Given the description of an element on the screen output the (x, y) to click on. 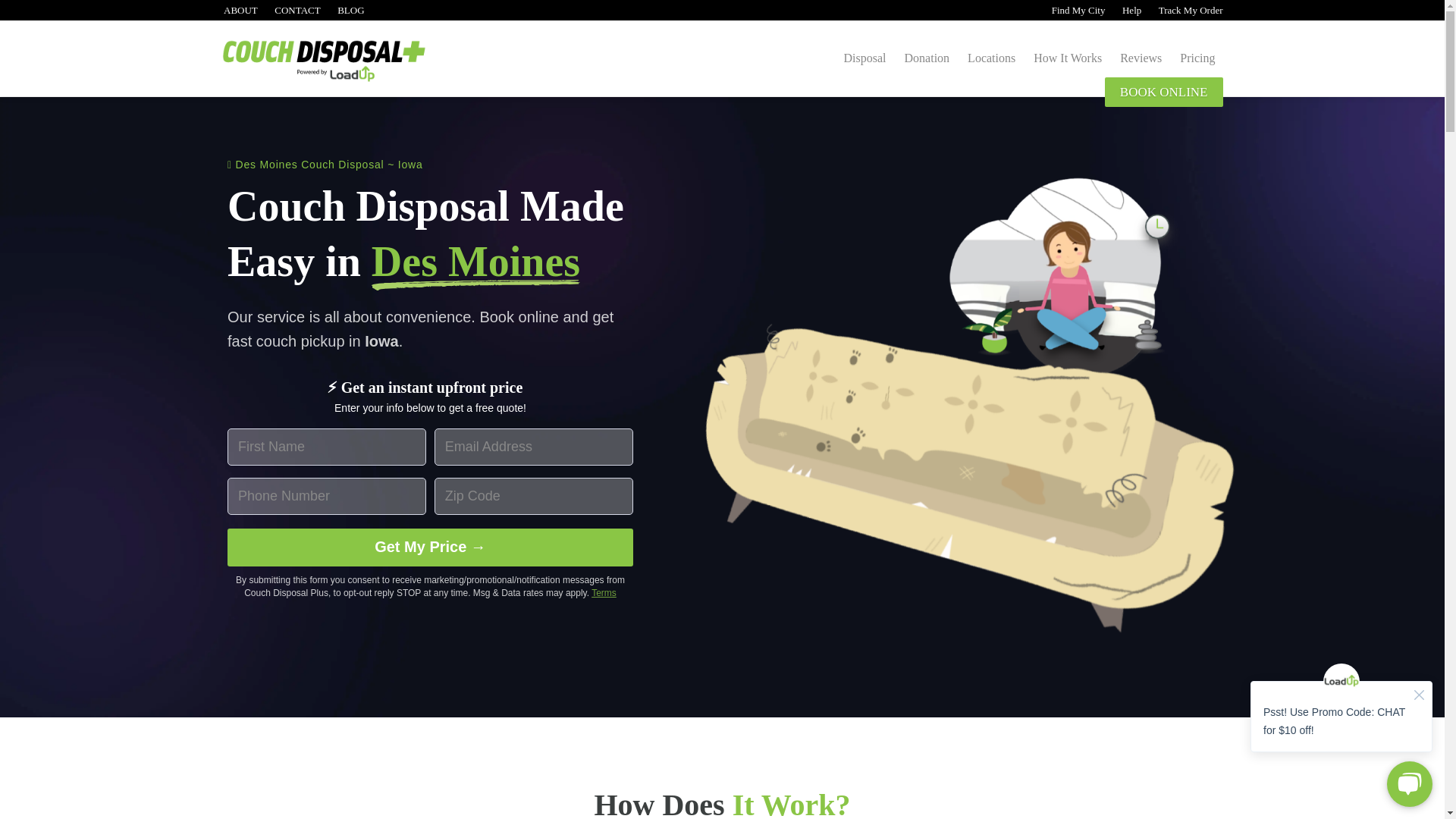
Find My City (1077, 10)
Disposal (864, 57)
BLOG (350, 10)
Help (1130, 10)
Terms (603, 593)
CONTACT (296, 10)
How It Works (1067, 57)
BOOK ONLINE (1164, 91)
Track My Order (1189, 10)
Reviews (1140, 57)
Couch Disposal Plus (348, 65)
ABOUT (239, 10)
Pricing (1197, 57)
Find My City (1077, 10)
Locations (991, 57)
